Given the description of an element on the screen output the (x, y) to click on. 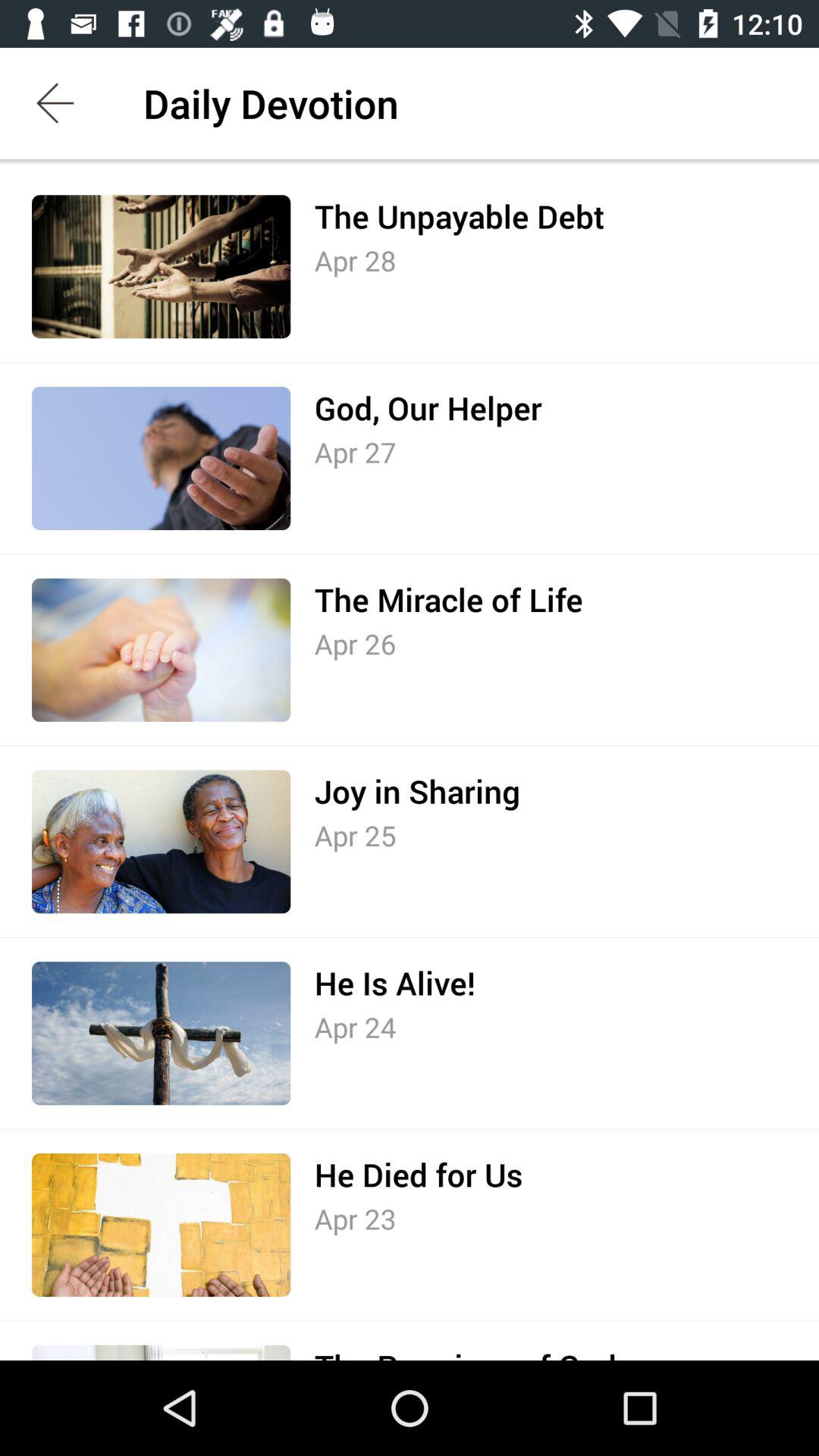
turn off item above apr 24 icon (394, 982)
